Given the description of an element on the screen output the (x, y) to click on. 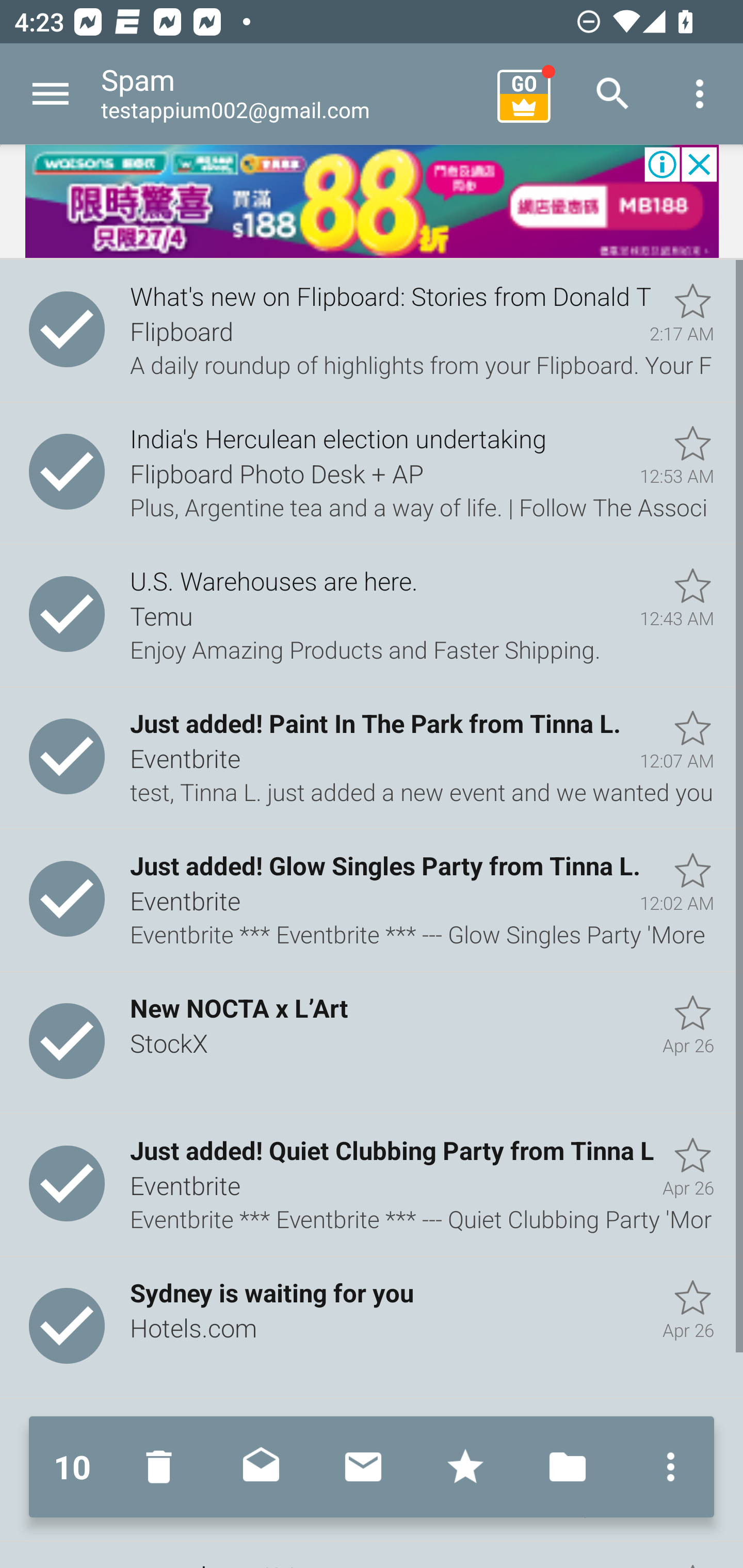
Navigate up (50, 93)
Spam testappium002@gmail.com (291, 93)
Search (612, 93)
More options (699, 93)
Advertisement (371, 202)
10 10 messages (71, 1466)
Move to Deleted (162, 1466)
Mark read (261, 1466)
Mark unread (363, 1466)
Mark with stars (465, 1466)
Move to folder… (567, 1466)
More options (666, 1466)
